Given the description of an element on the screen output the (x, y) to click on. 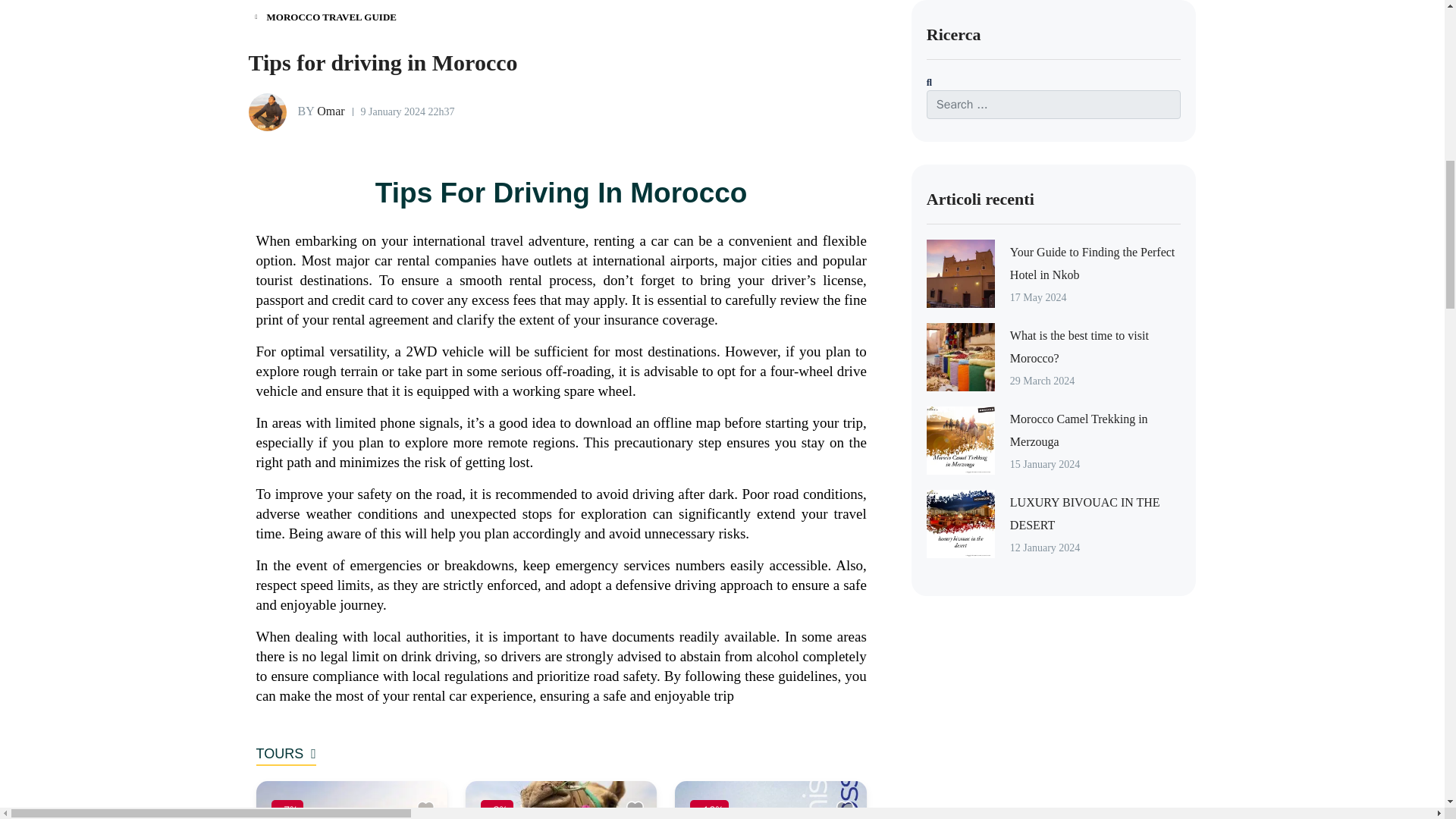
Add to wishlist (847, 808)
TOURS (285, 755)
Add to wishlist (427, 808)
MOROCCO TRAVEL GUIDE (326, 16)
Add to wishlist (637, 808)
BY Omar (296, 112)
